Given the description of an element on the screen output the (x, y) to click on. 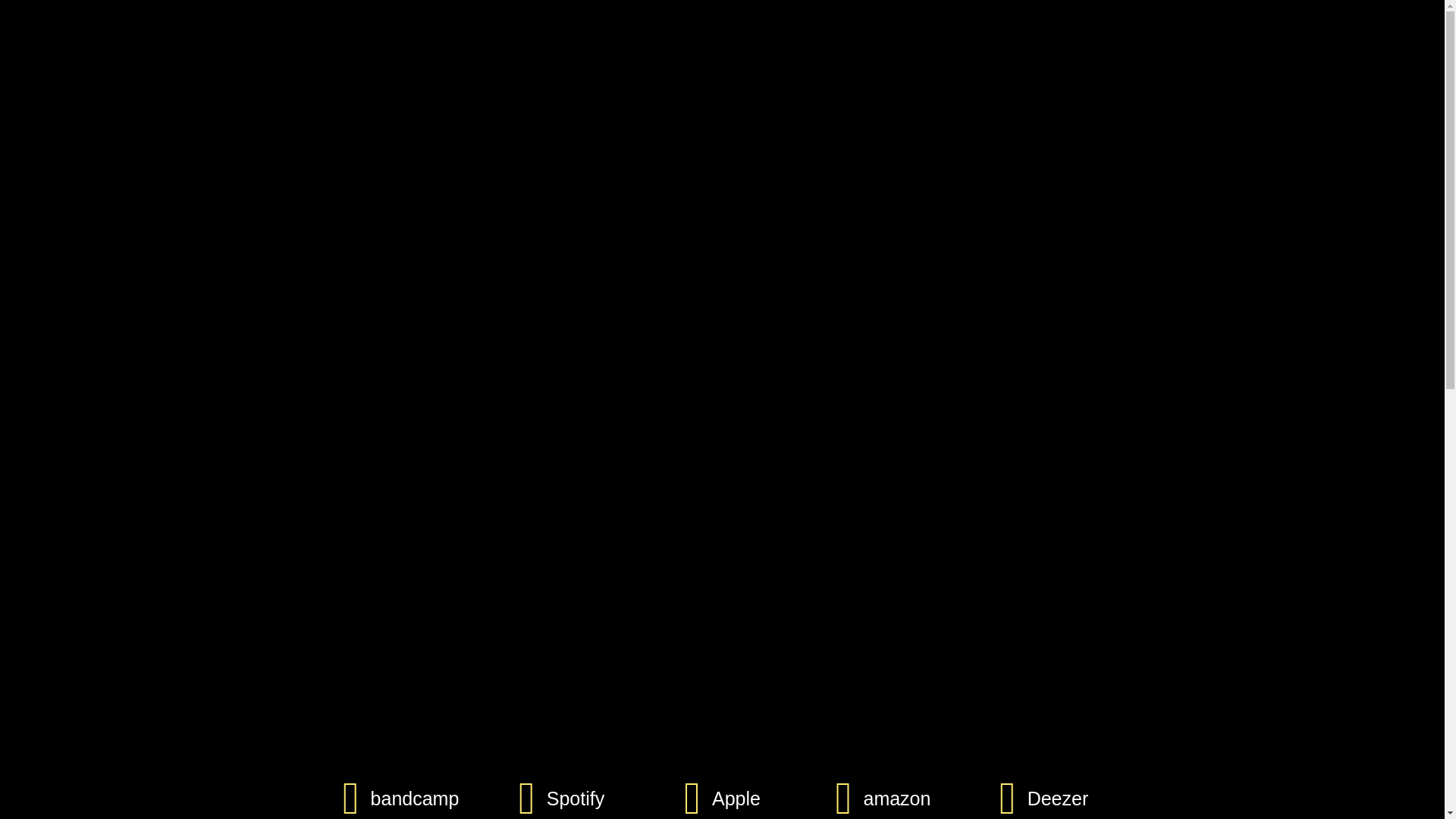
bandcamp Element type: text (414, 798)
amazon Element type: text (896, 798)
Deezer Element type: text (1057, 798)
Apple Element type: text (736, 798)
Spotify Element type: text (575, 798)
